Given the description of an element on the screen output the (x, y) to click on. 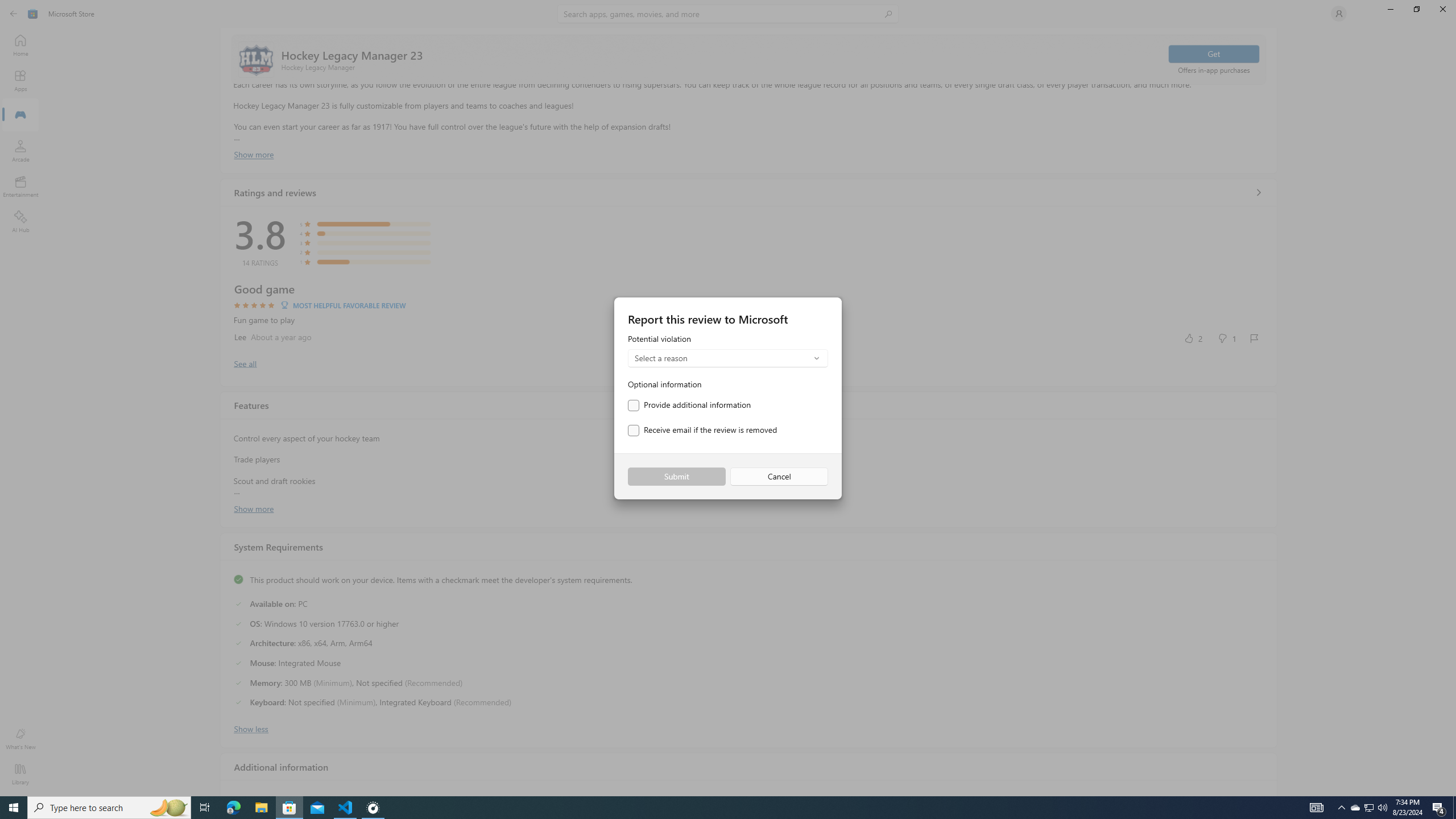
Yes, this was helpful. 2 votes. (1192, 338)
Get (1213, 53)
Review by Lee. Rated 5 out of five stars. Good game. (748, 313)
Show more (253, 507)
Report review (1253, 338)
Receive email if the review is removed (702, 430)
No, this was not helpful. 1 votes. (1226, 338)
Show all ratings and reviews (1258, 192)
Show less (250, 728)
AutomationID: NavigationControl (728, 398)
